Given the description of an element on the screen output the (x, y) to click on. 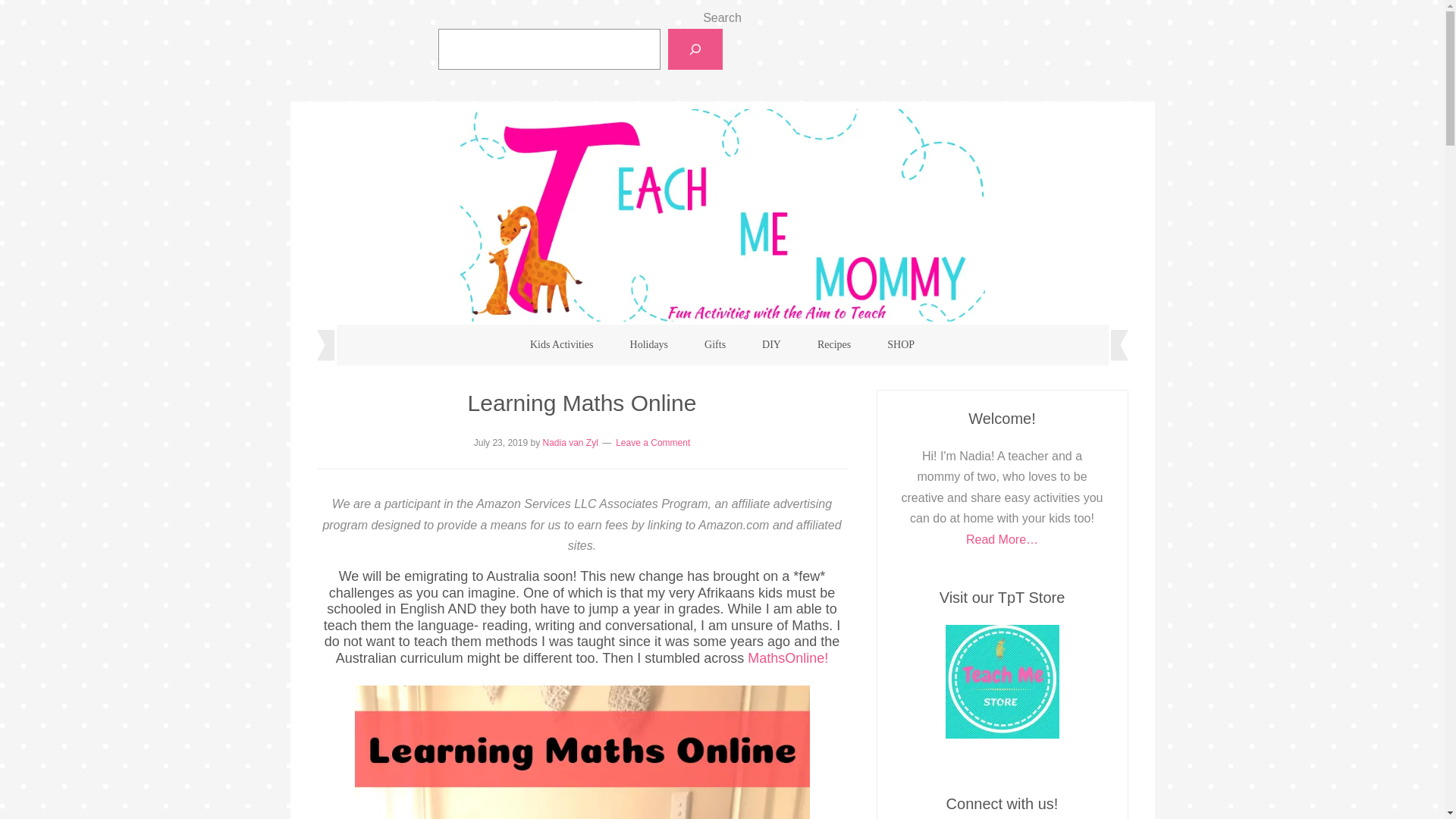
Nadia van Zyl (568, 442)
Leave a Comment (652, 442)
SHOP (901, 344)
DIY (771, 344)
Holidays (649, 344)
Recipes (834, 344)
Gifts (714, 344)
MathsOnline! (788, 657)
Kids Activities (561, 344)
